Given the description of an element on the screen output the (x, y) to click on. 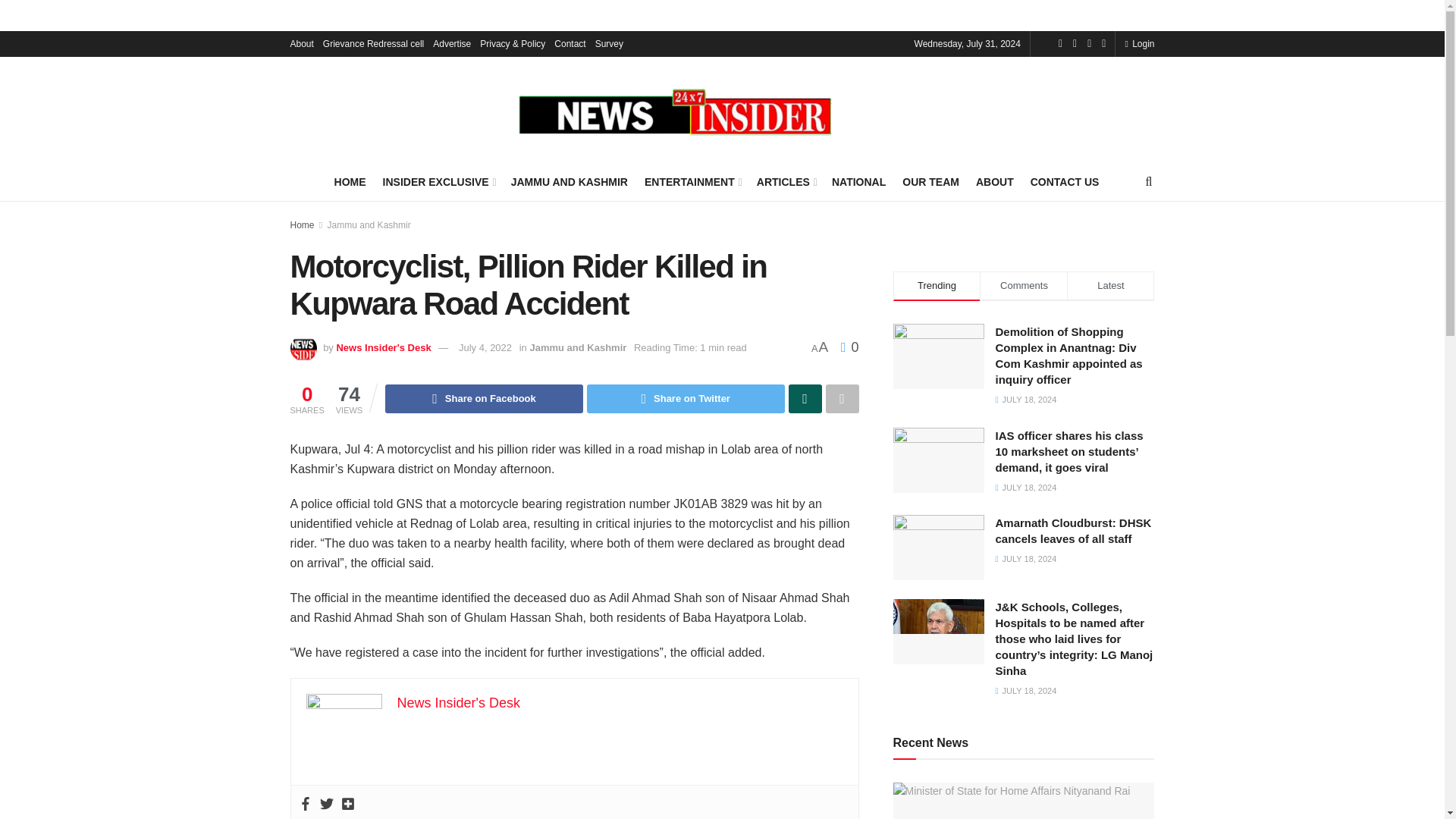
HOME (350, 181)
Survey (609, 43)
JAMMU AND KASHMIR (569, 181)
ENTERTAINMENT (692, 181)
INSIDER EXCLUSIVE (438, 181)
Advertise (451, 43)
Login (1139, 43)
Contact (569, 43)
About (301, 43)
Grievance Redressal cell (373, 43)
